Given the description of an element on the screen output the (x, y) to click on. 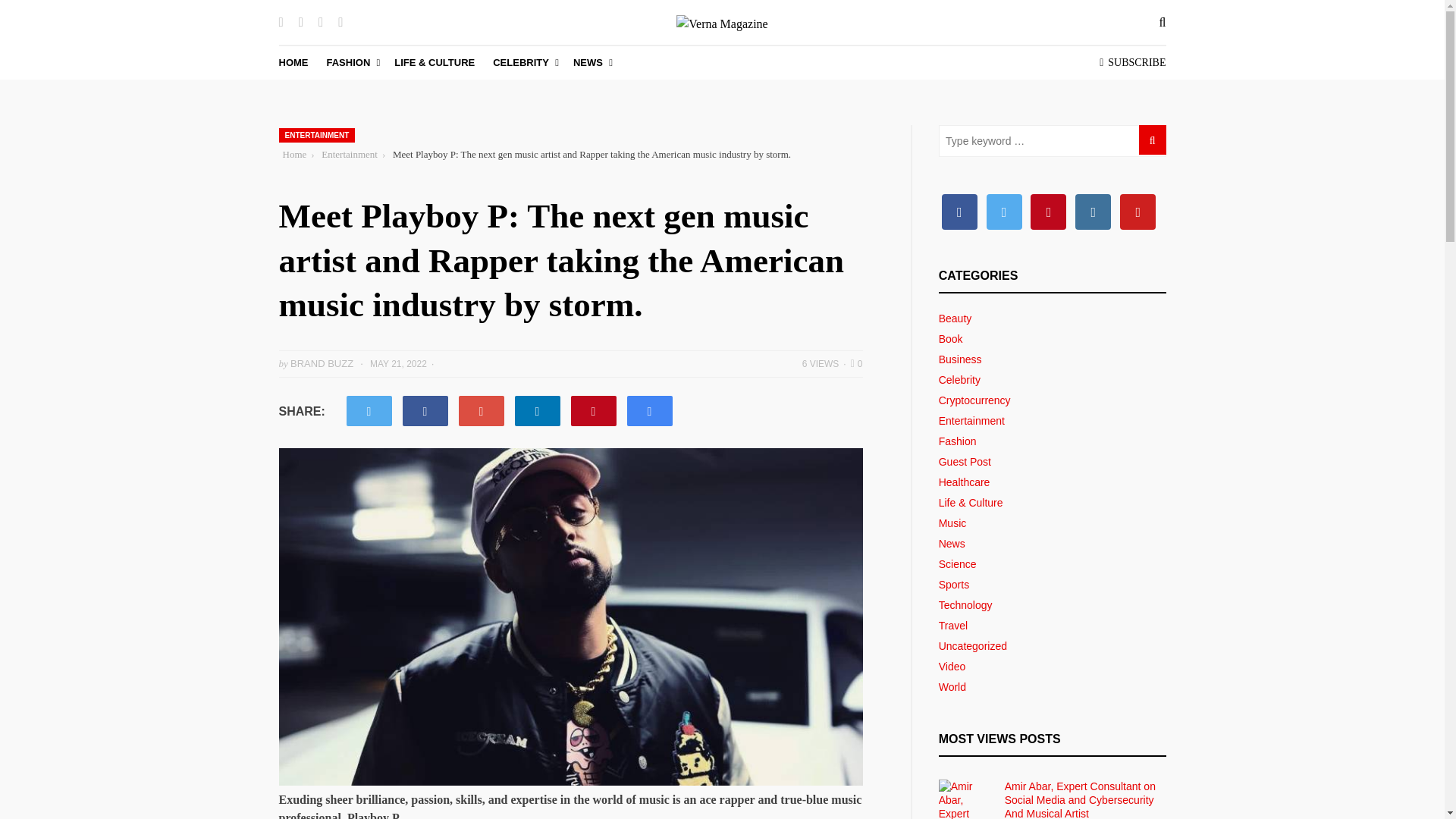
ENTERTAINMENT (317, 134)
Search for: (1052, 141)
0 (856, 362)
NEWS (590, 62)
CELEBRITY (523, 62)
Entertainment (349, 154)
SUBSCRIBE (1132, 63)
Home (293, 154)
BRAND BUZZ (321, 363)
FASHION (350, 62)
Like this (856, 362)
